Given the description of an element on the screen output the (x, y) to click on. 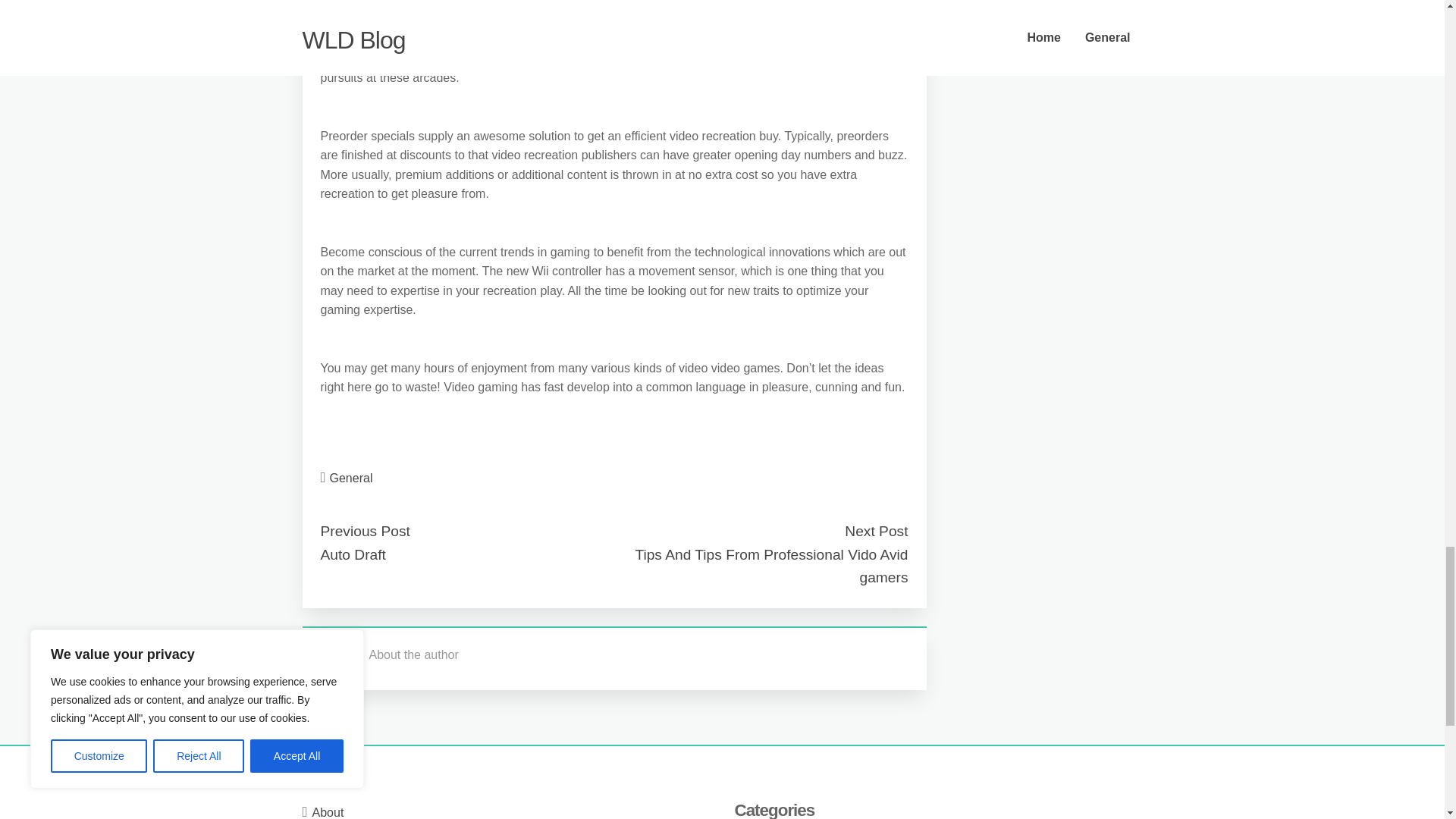
General (351, 477)
Tips And Tips From Professional Vido Avid gamers (770, 566)
About (328, 812)
Next Post (875, 530)
Previous Post (364, 530)
Auto Draft (352, 554)
